Given the description of an element on the screen output the (x, y) to click on. 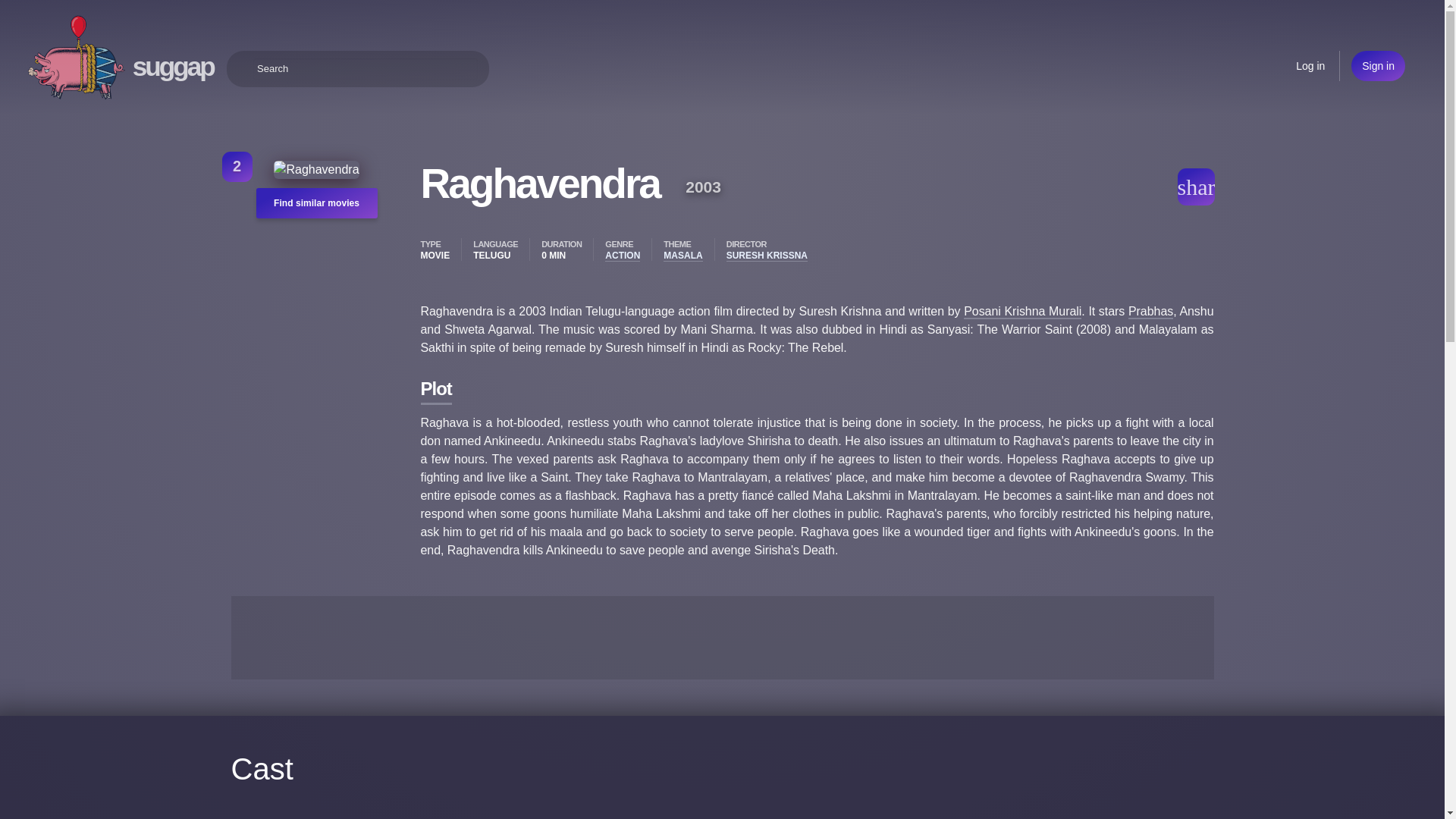
action (496, 359)
Find similar movies (282, 205)
Suresh Krissna (521, 432)
Oink, oink... (76, 57)
Sign in (1378, 65)
Share (1203, 183)
suggap (173, 66)
Prabhas (502, 469)
Posani Krishna Murali (1083, 451)
Log in (1309, 65)
